Given the description of an element on the screen output the (x, y) to click on. 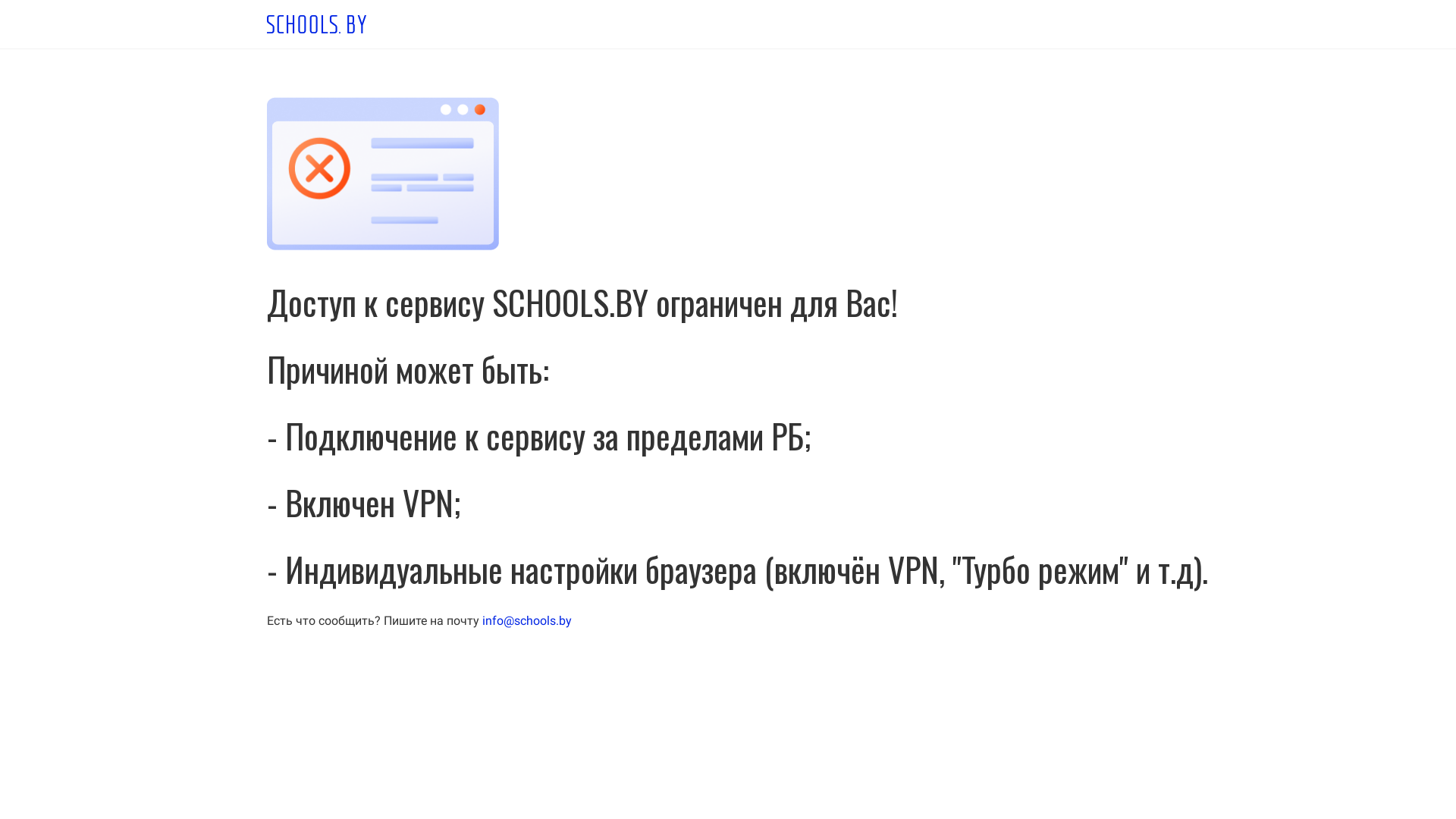
info@schools.by Element type: text (526, 620)
